Given the description of an element on the screen output the (x, y) to click on. 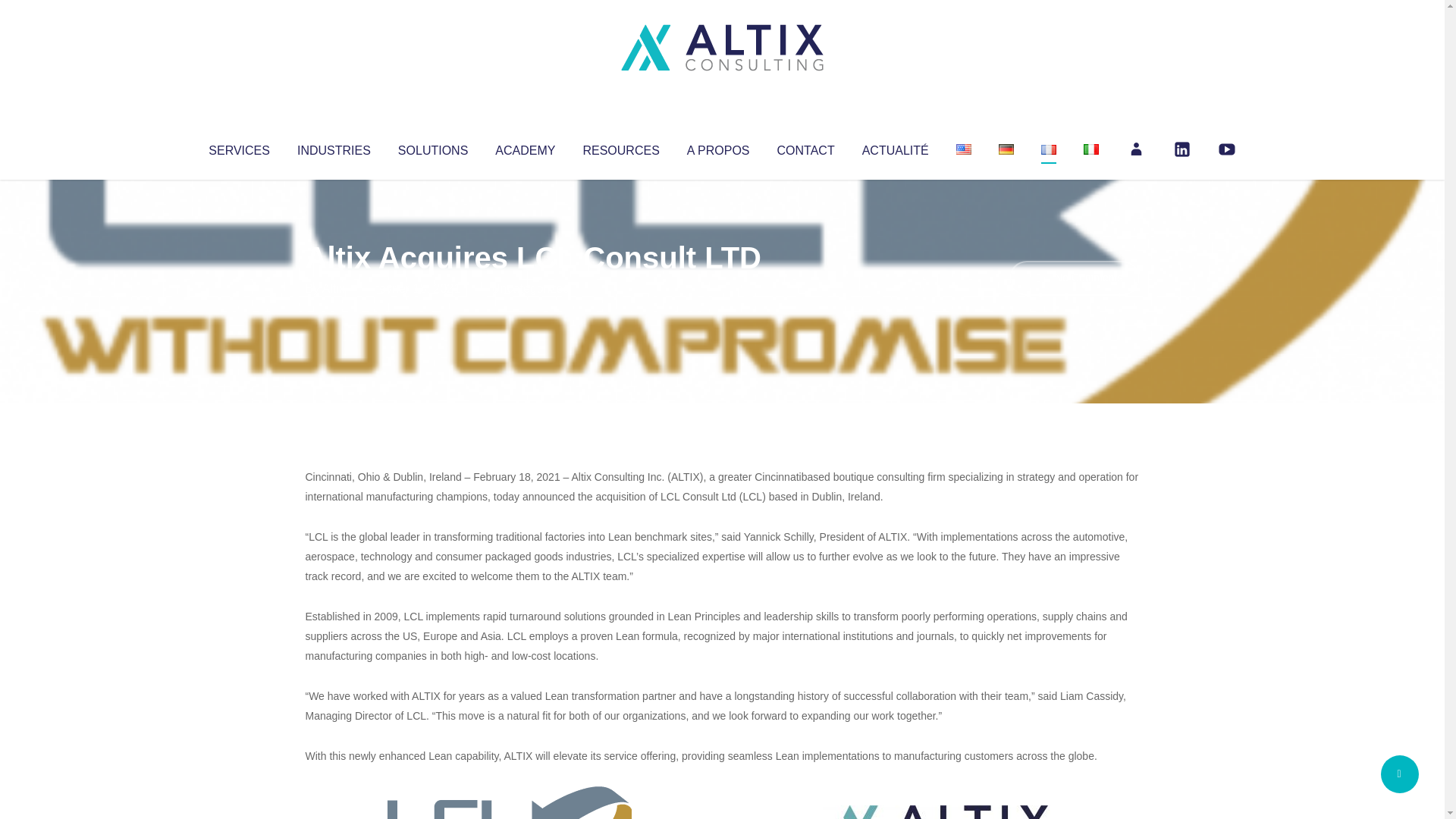
No Comments (1073, 278)
SOLUTIONS (432, 146)
INDUSTRIES (334, 146)
Articles par Altix (333, 287)
SERVICES (238, 146)
A PROPOS (718, 146)
RESOURCES (620, 146)
Uncategorized (530, 287)
Altix (333, 287)
ACADEMY (524, 146)
